Given the description of an element on the screen output the (x, y) to click on. 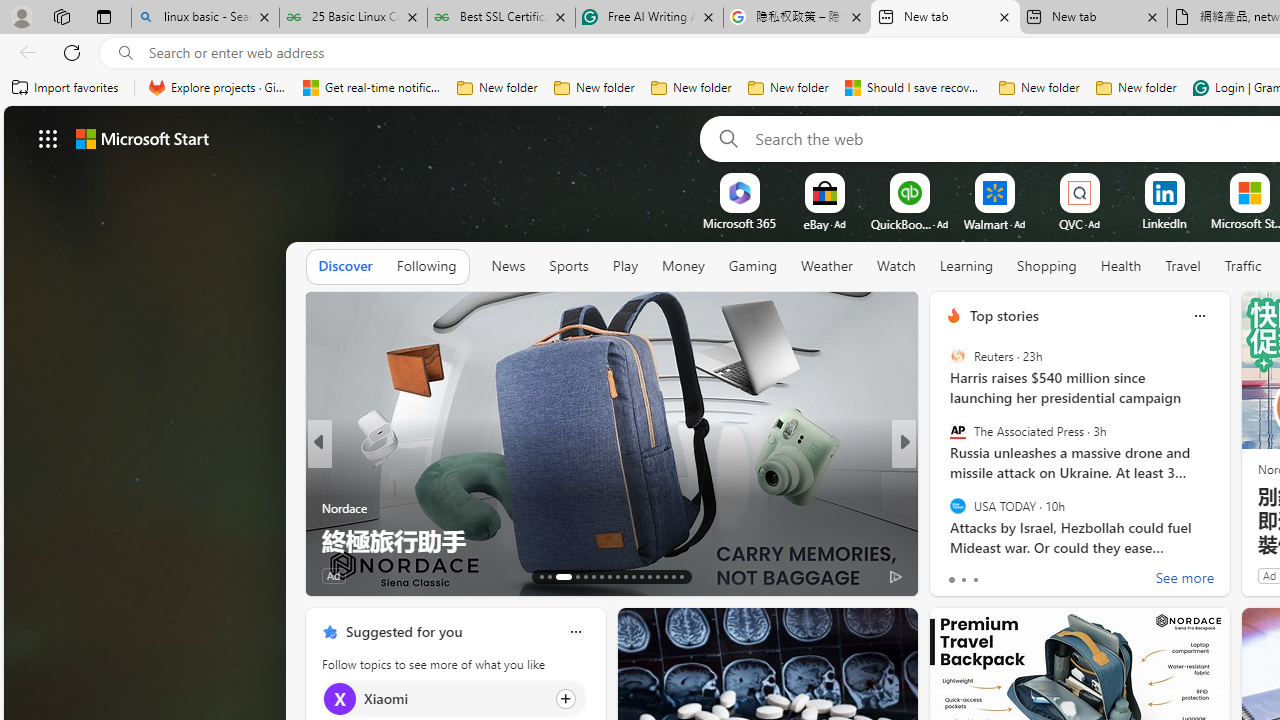
View comments 72 Comment (1051, 574)
AutomationID: tab-19 (600, 576)
AutomationID: tab-26 (656, 576)
Morning Carpool (944, 507)
View comments 70 Comment (1051, 574)
